Given the description of an element on the screen output the (x, y) to click on. 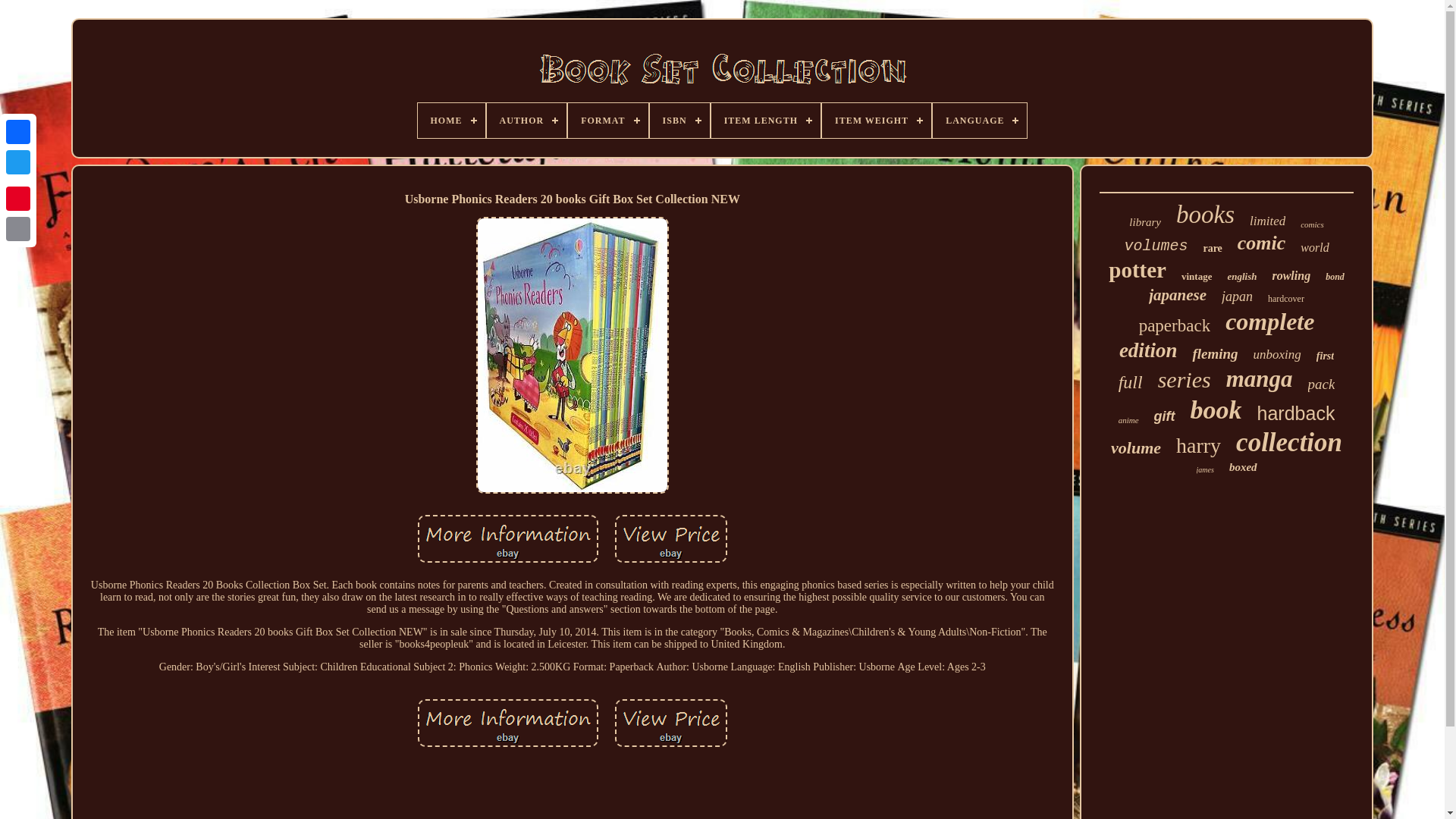
AUTHOR (526, 120)
Usborne Phonics Readers 20 books Gift Box Set Collection NEW (507, 722)
HOME (450, 120)
FORMAT (607, 120)
Usborne Phonics Readers 20 books Gift Box Set Collection NEW (507, 538)
Usborne Phonics Readers 20 books Gift Box Set Collection NEW (670, 538)
Usborne Phonics Readers 20 books Gift Box Set Collection NEW (670, 722)
